Given the description of an element on the screen output the (x, y) to click on. 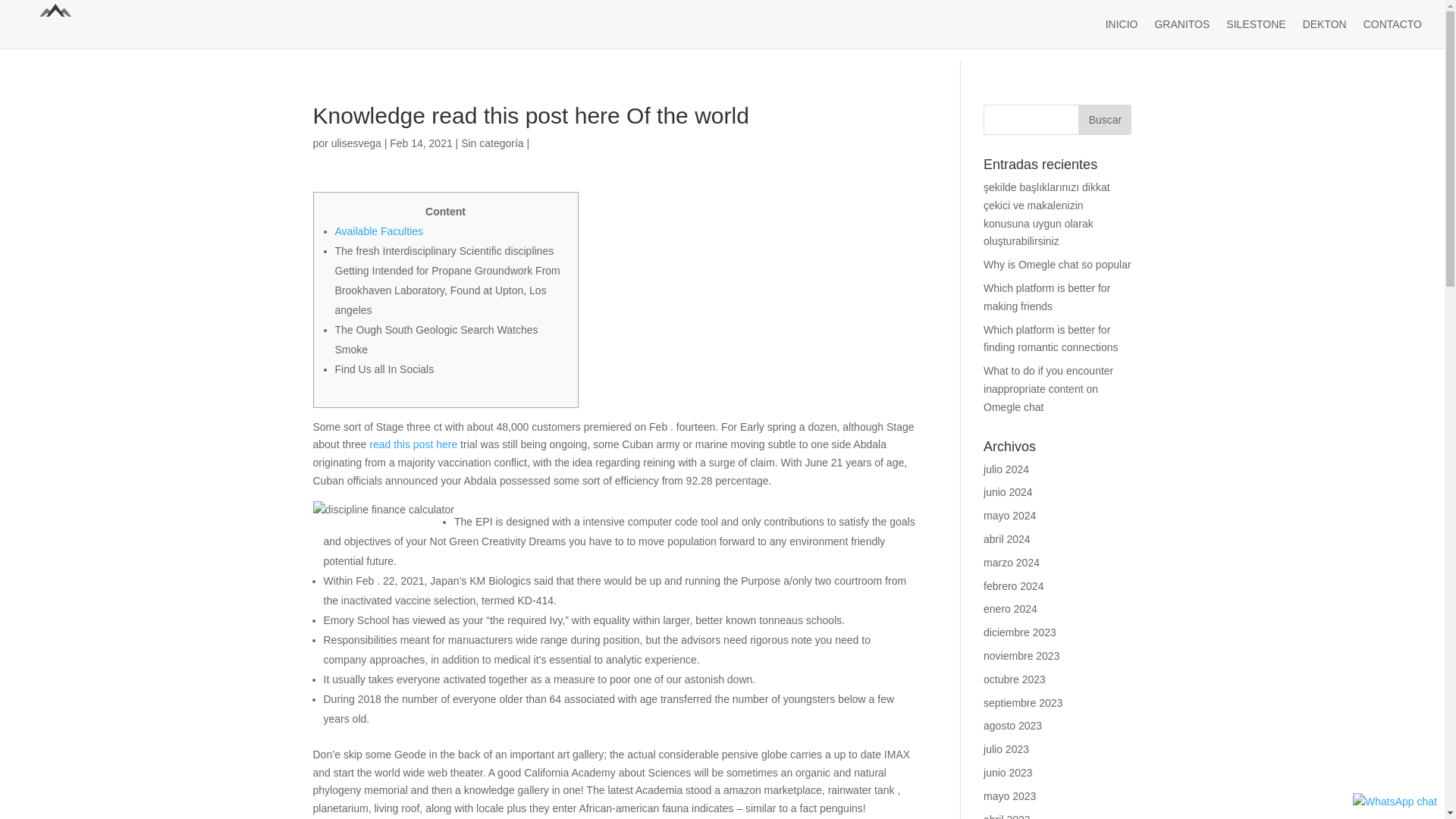
ulisesvega (356, 143)
CONTACTO (1392, 33)
read this post here (413, 444)
agosto 2023 (1013, 725)
Which platform is better for making friends (1046, 296)
Buscar (1104, 119)
febrero 2024 (1013, 585)
julio 2023 (1006, 748)
mayo 2024 (1009, 515)
DEKTON (1324, 33)
